Given the description of an element on the screen output the (x, y) to click on. 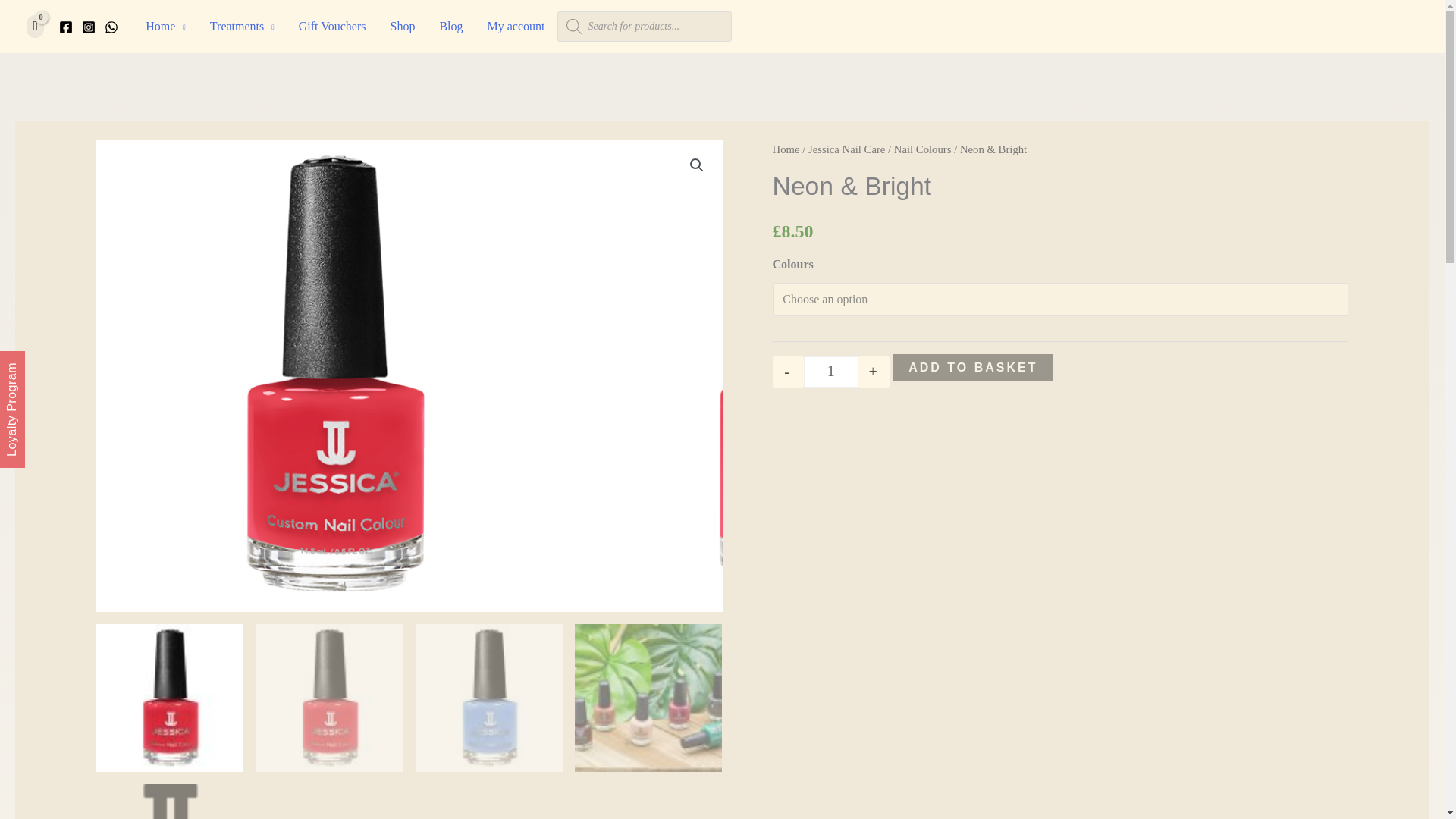
My account (516, 26)
Home (165, 26)
1 (831, 371)
Treatments (242, 26)
Blog (450, 26)
Shop (401, 26)
Qty (831, 371)
Gift Vouchers (332, 26)
